Given the description of an element on the screen output the (x, y) to click on. 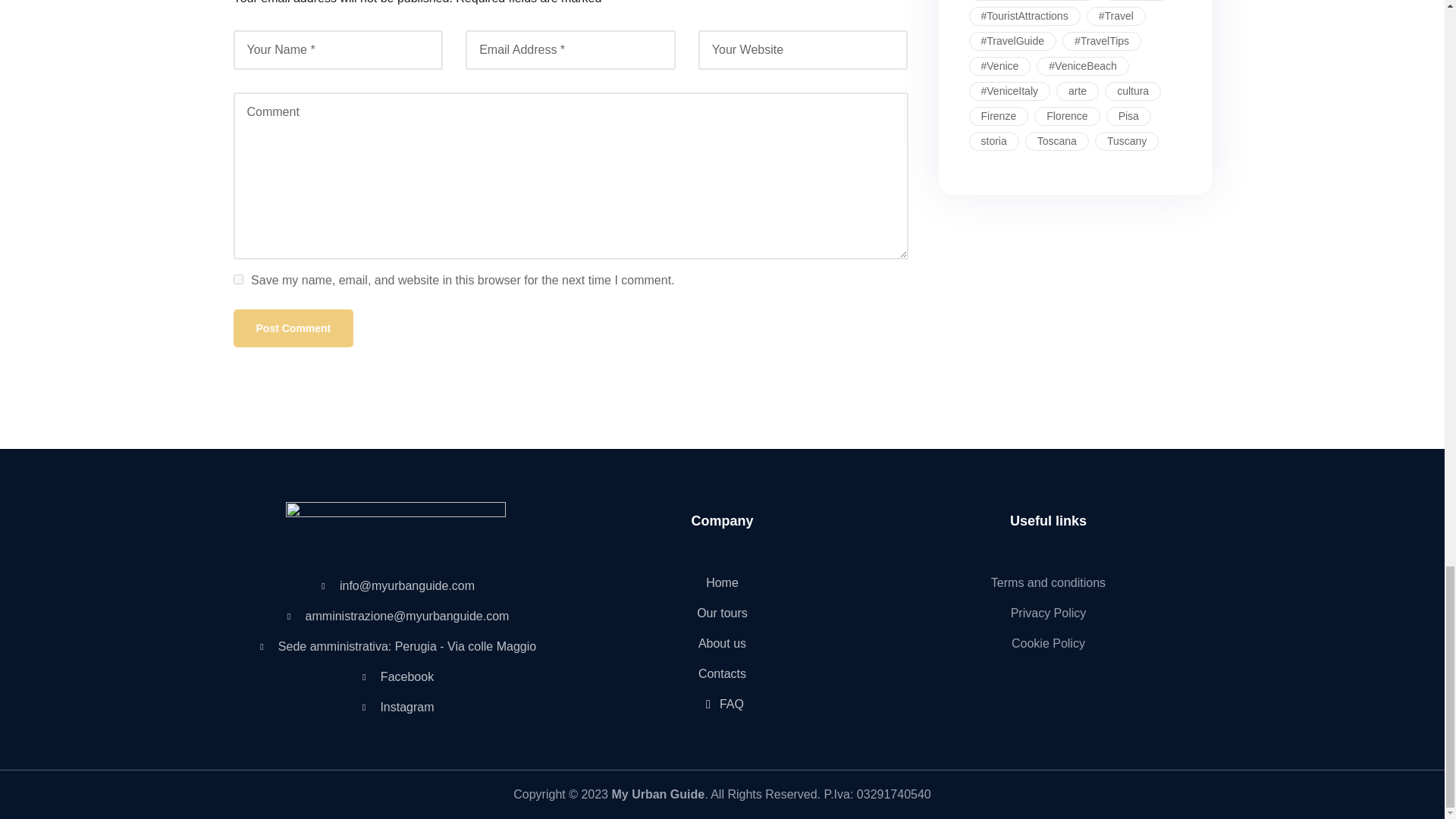
Post Comment (292, 328)
Post Comment (292, 328)
yes (237, 279)
